Given the description of an element on the screen output the (x, y) to click on. 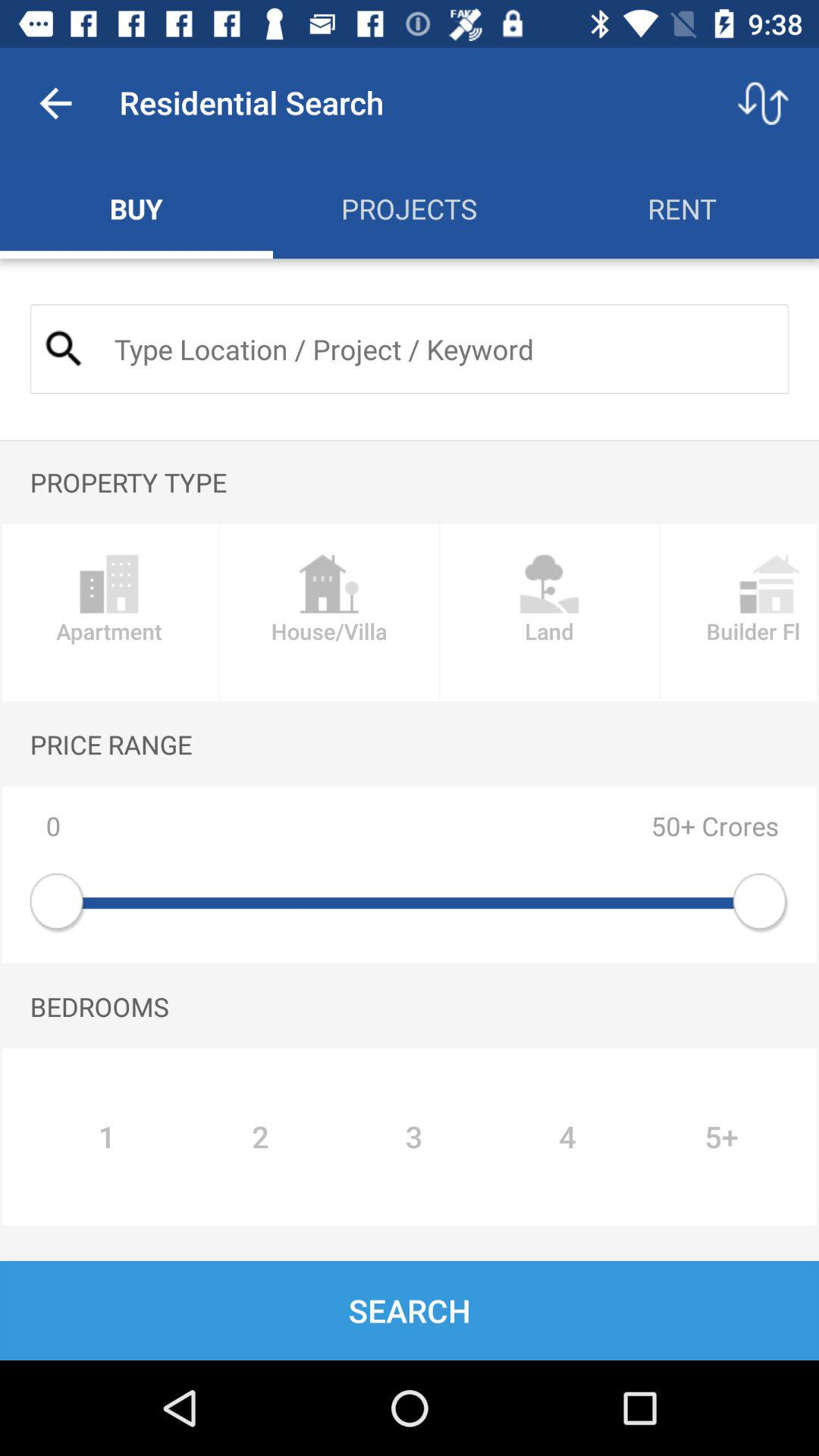
flip to 4 item (567, 1137)
